Given the description of an element on the screen output the (x, y) to click on. 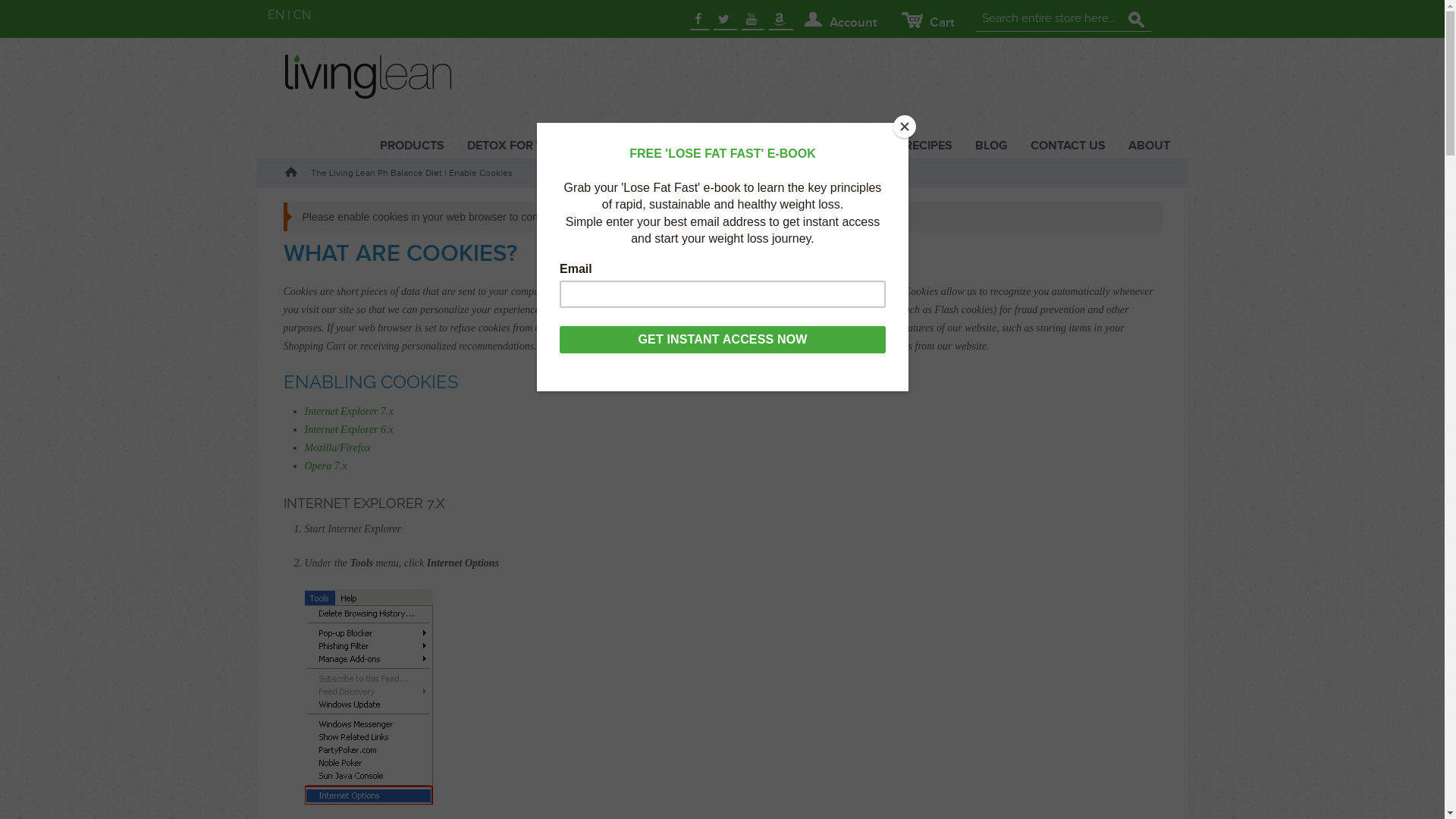
Internet Explorer 7.x Element type: text (348, 411)
  Element type: text (699, 19)
CONTACT US Element type: text (1068, 145)
CN Element type: text (301, 14)
  Element type: text (780, 19)
SUCCESS STORIES Element type: text (827, 145)
Internet Explorer 6.x Element type: text (348, 429)
RECIPES Element type: text (928, 145)
  Element type: text (752, 19)
Mozilla/Firefox Element type: text (337, 447)
Home Element type: text (291, 171)
  Element type: text (724, 19)
Account Element type: text (838, 20)
PRODUCTS Element type: text (411, 145)
Opera 7.x Element type: text (325, 465)
BLOG Element type: text (990, 145)
Search Element type: hover (1135, 20)
ABOUT Element type: text (1148, 145)
DETOX FOR HEALTH Element type: text (694, 145)
Cart Element type: text (926, 20)
EN Element type: text (274, 14)
DETOX FOR WEIGHT LOSS Element type: text (540, 145)
